Given the description of an element on the screen output the (x, y) to click on. 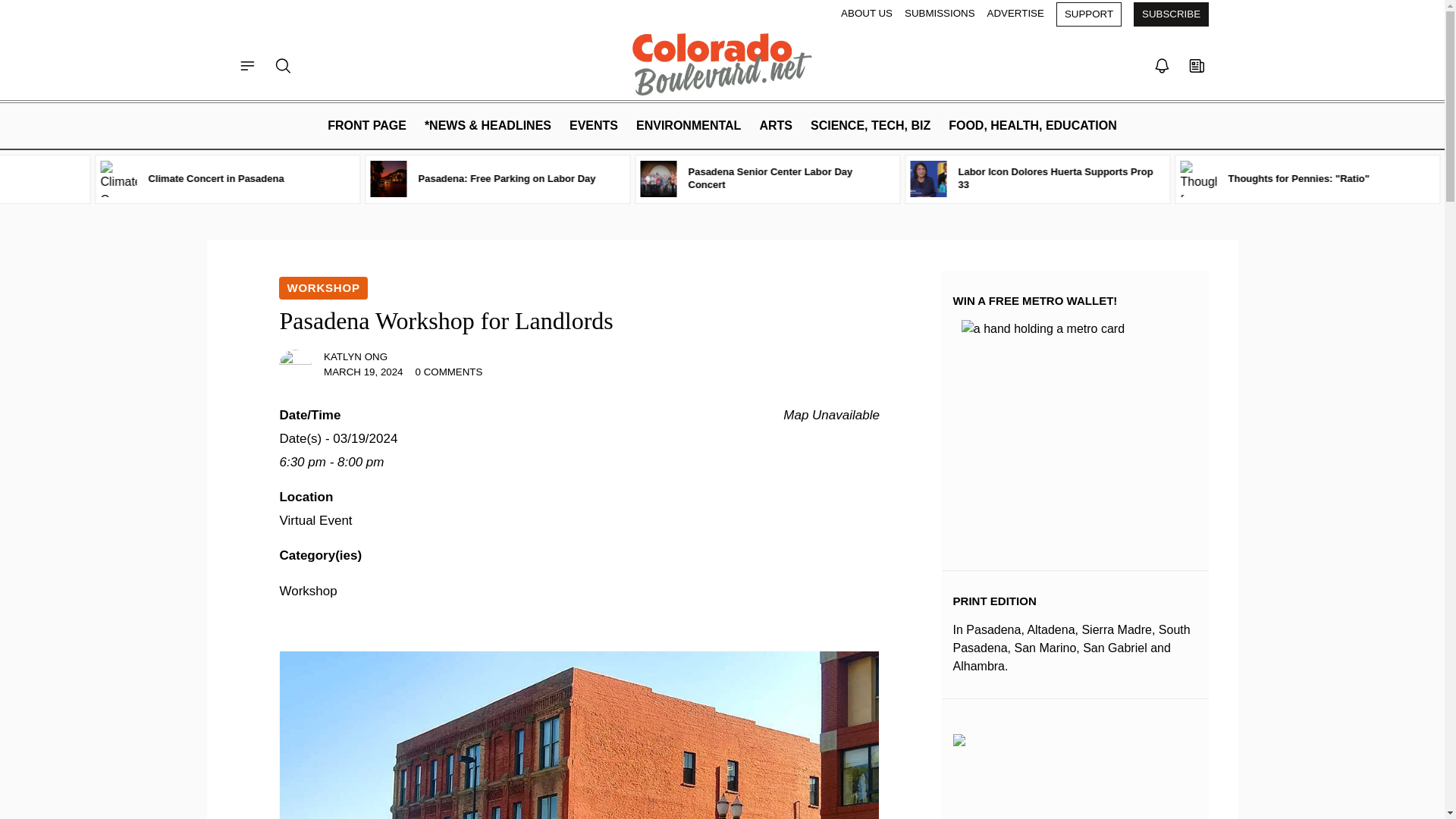
EVENTS (593, 125)
ColoradoBoulevard.net (722, 64)
SUPPORT (1089, 14)
ADVERTISE (1015, 13)
SCIENCE, TECH, BIZ (870, 125)
SUBSCRIBE (1171, 14)
Climate Concert in Pasadena (349, 178)
Happy Labor Day (107, 178)
FRONT PAGE (366, 125)
FOOD, HEALTH, EDUCATION (1032, 125)
